Given the description of an element on the screen output the (x, y) to click on. 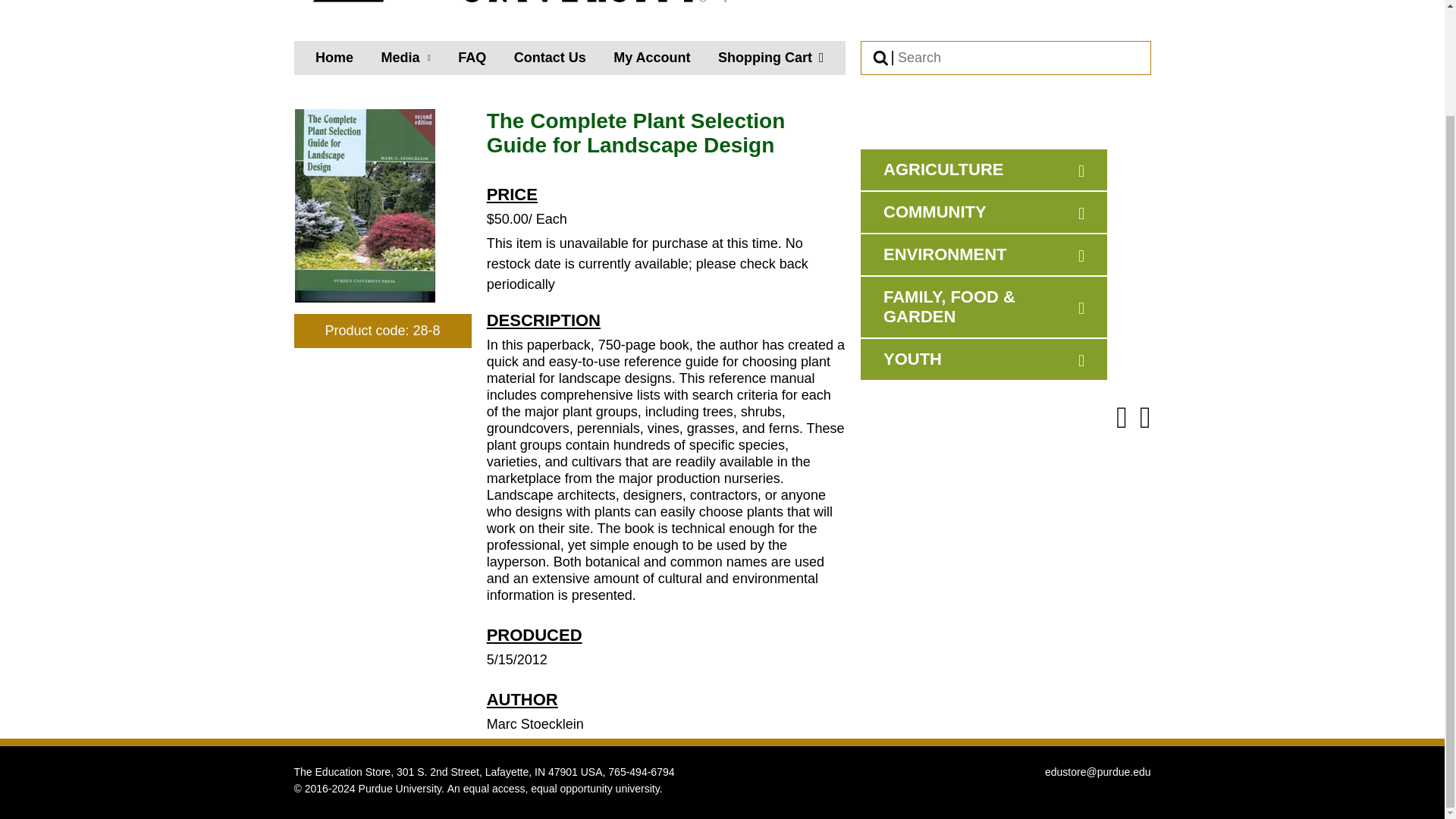
Contact Us (549, 57)
Shopping Cart (770, 57)
My Account (651, 57)
FAQ (472, 57)
An equal access, equal opportunity (529, 788)
Home (334, 57)
Search (1005, 57)
Media (404, 57)
Purdue Extension on Facebook (1121, 417)
Purdue Extension on Twitter (1145, 417)
